Given the description of an element on the screen output the (x, y) to click on. 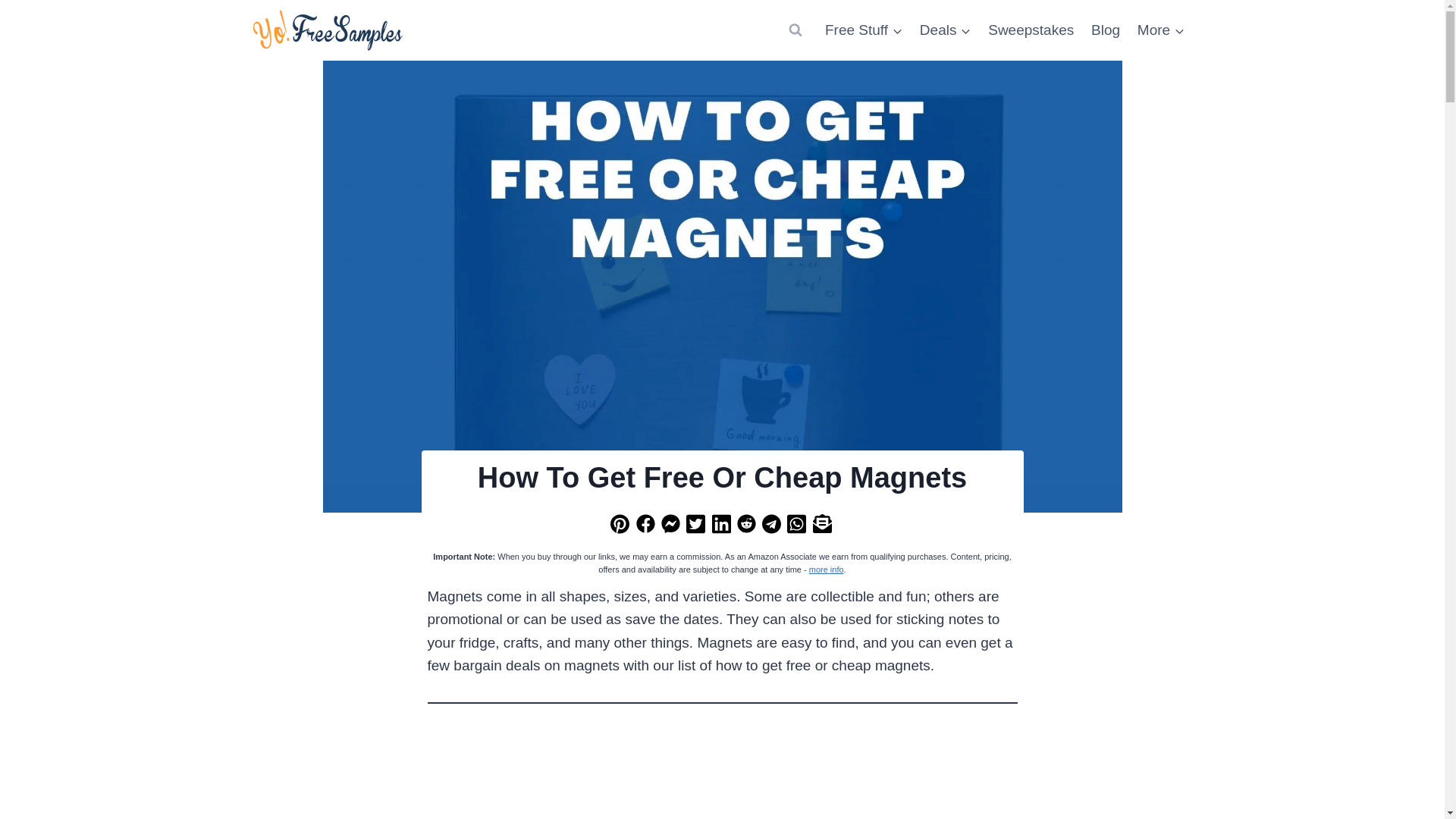
Sweepstakes (1031, 29)
Blog (1106, 29)
Free Stuff (863, 29)
Deals (944, 29)
More (1160, 29)
Advertisement (722, 773)
